Given the description of an element on the screen output the (x, y) to click on. 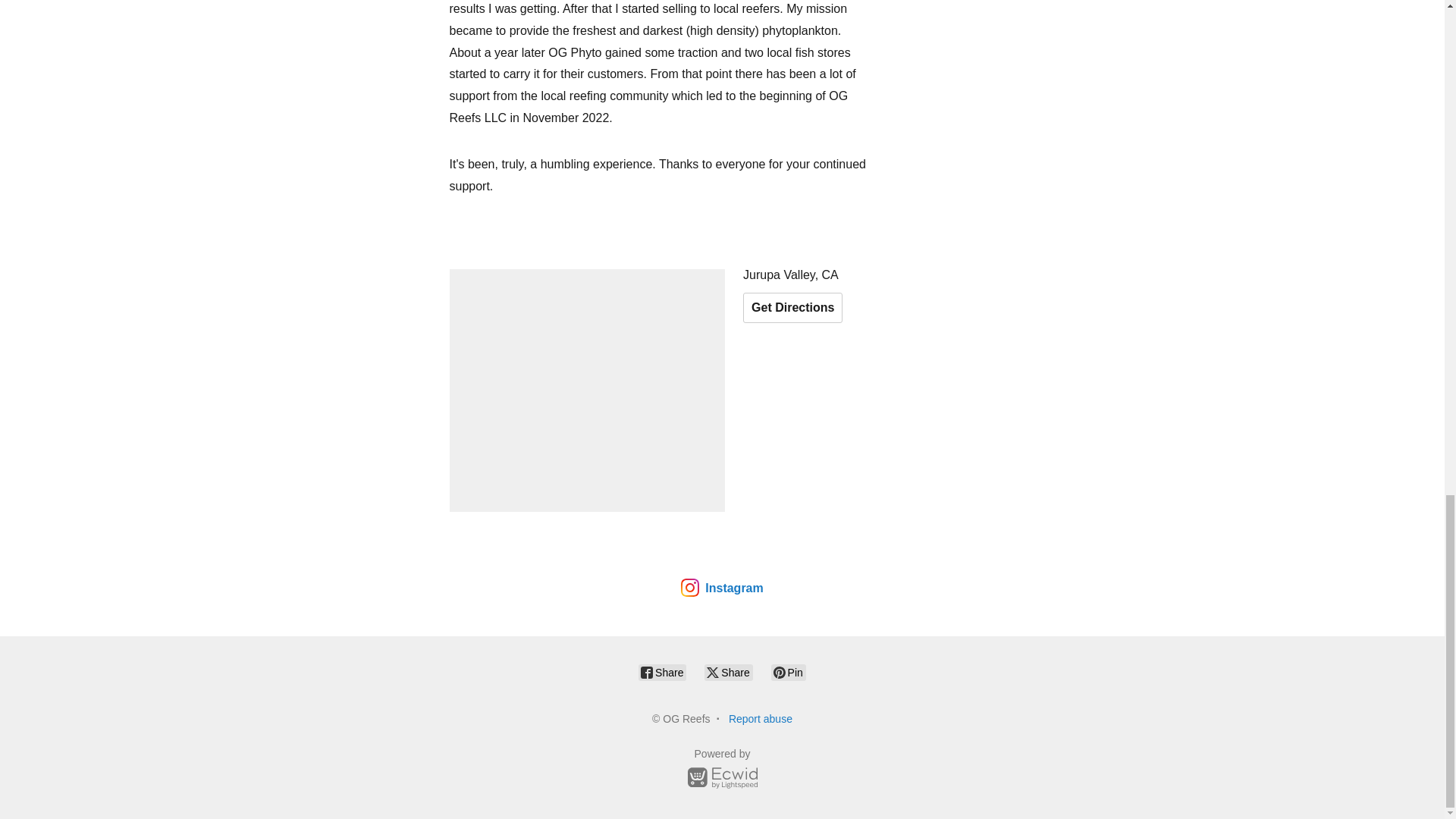
Share (728, 672)
Get Directions (792, 307)
Pin (788, 672)
Share (662, 672)
Location on map (586, 390)
Powered by (722, 770)
Report abuse (760, 718)
Instagram (721, 587)
